Given the description of an element on the screen output the (x, y) to click on. 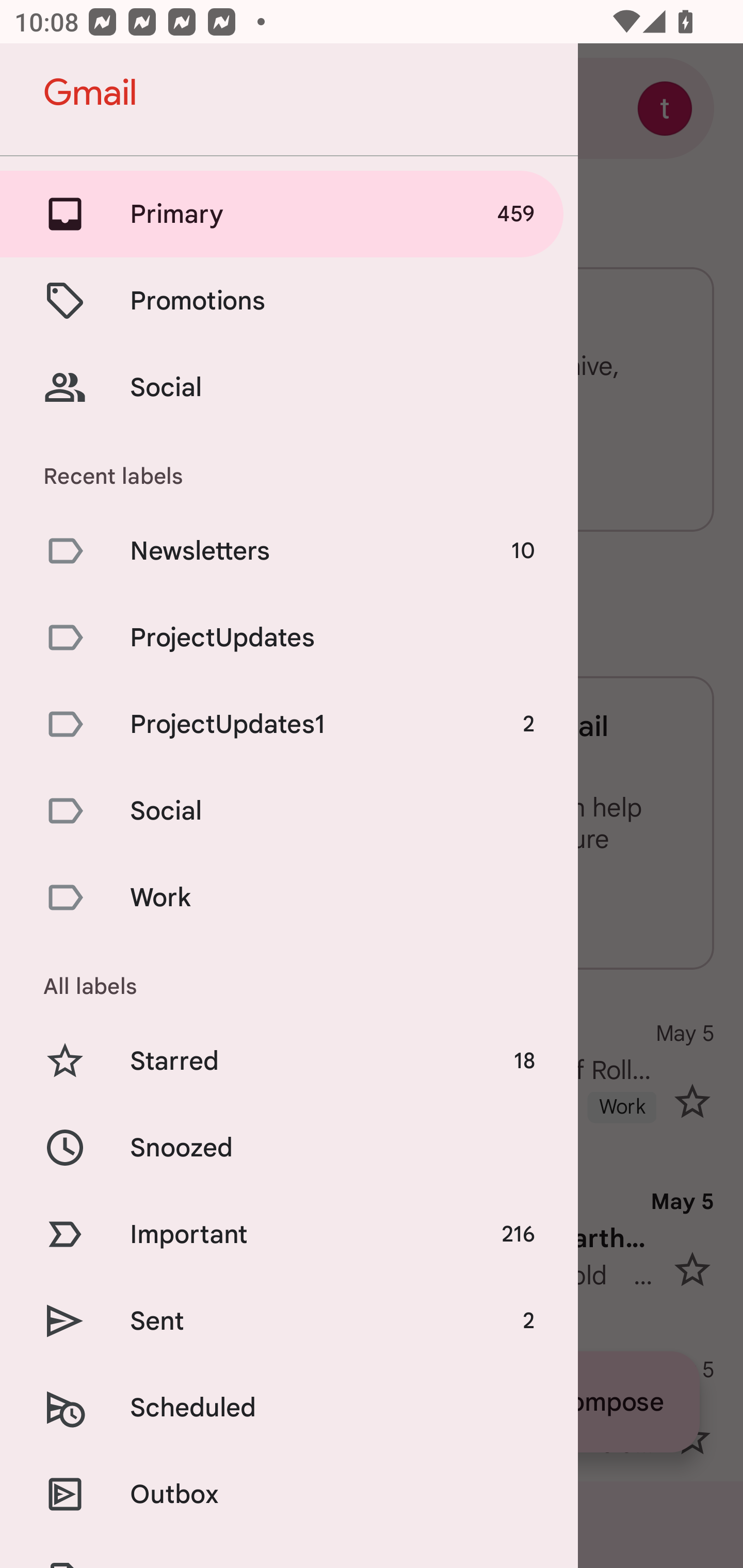
Primary 459 (289, 213)
Promotions (289, 300)
Social (289, 387)
Newsletters 10 (289, 551)
ProjectUpdates (289, 637)
ProjectUpdates1 2 (289, 723)
Social (289, 810)
Work (289, 897)
Starred 18 (289, 1060)
Snoozed (289, 1147)
Important 216 (289, 1234)
Sent 2 (289, 1320)
Scheduled (289, 1407)
Outbox (289, 1494)
